Given the description of an element on the screen output the (x, y) to click on. 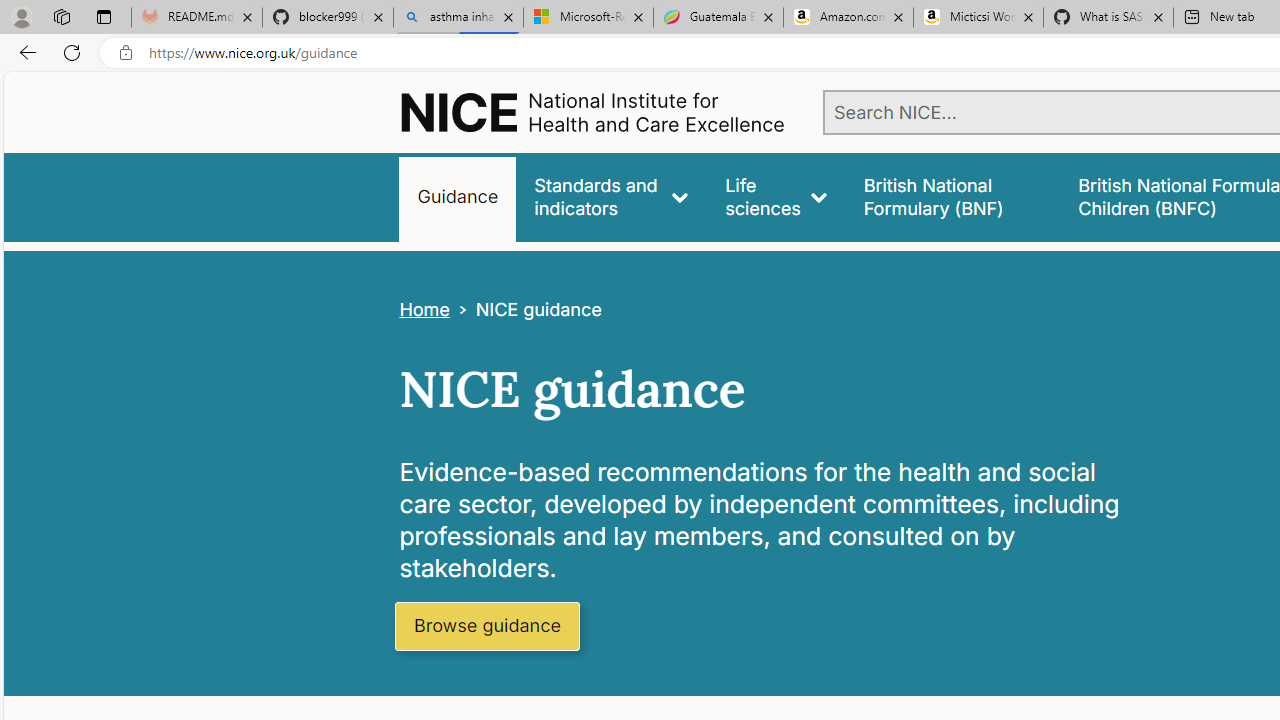
Home (424, 309)
Workspaces (61, 16)
Guidance (458, 196)
Life sciences (776, 196)
>NICE guidance (525, 309)
Browse guidance (486, 626)
Guidance (458, 196)
